Given the description of an element on the screen output the (x, y) to click on. 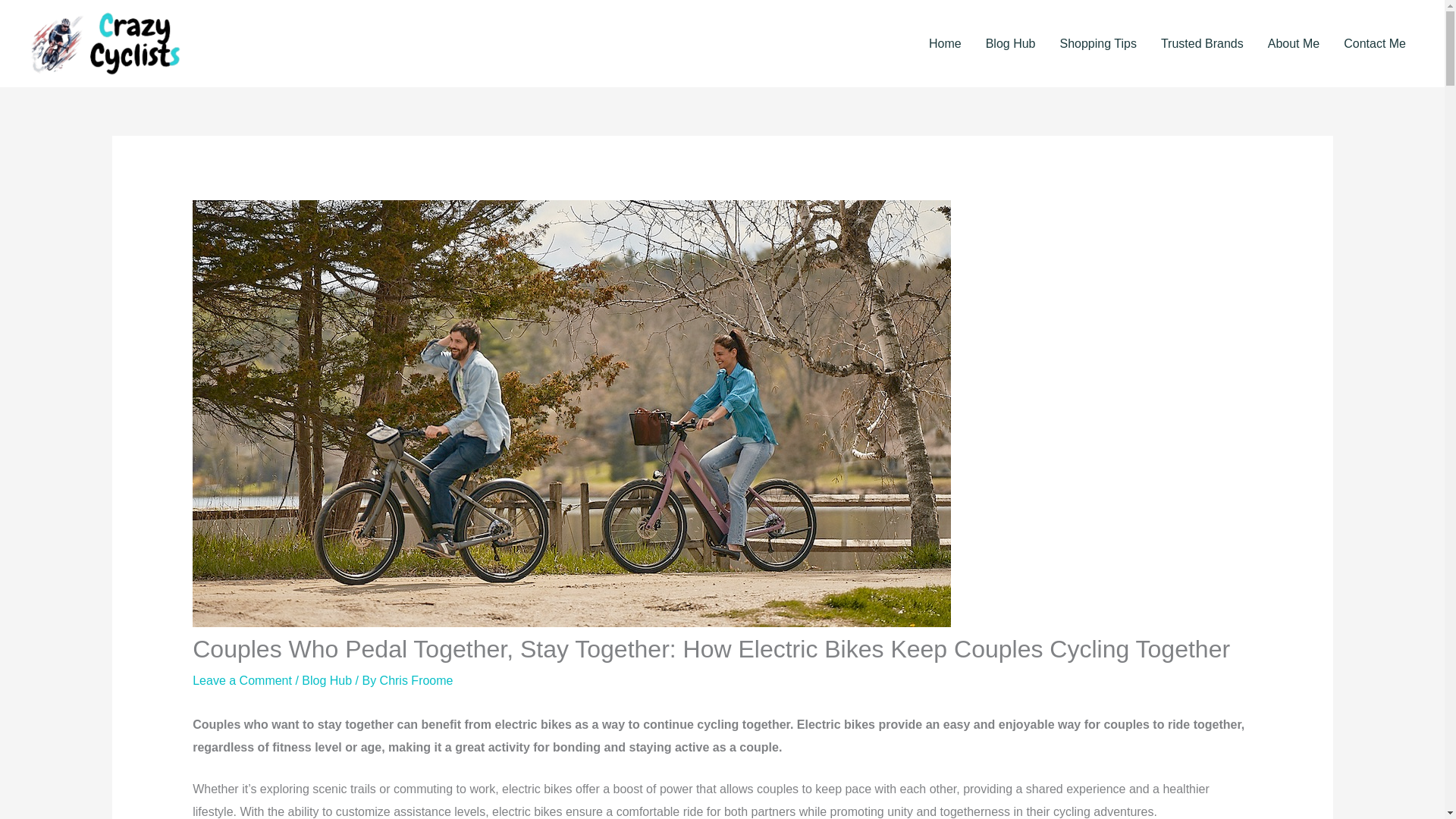
Leave a Comment (242, 680)
Blog Hub (326, 680)
Home (945, 43)
Blog Hub (1011, 43)
Trusted Brands (1201, 43)
Chris Froome (416, 680)
About Me (1293, 43)
Contact Me (1375, 43)
View all posts by Chris Froome (416, 680)
Shopping Tips (1098, 43)
